Given the description of an element on the screen output the (x, y) to click on. 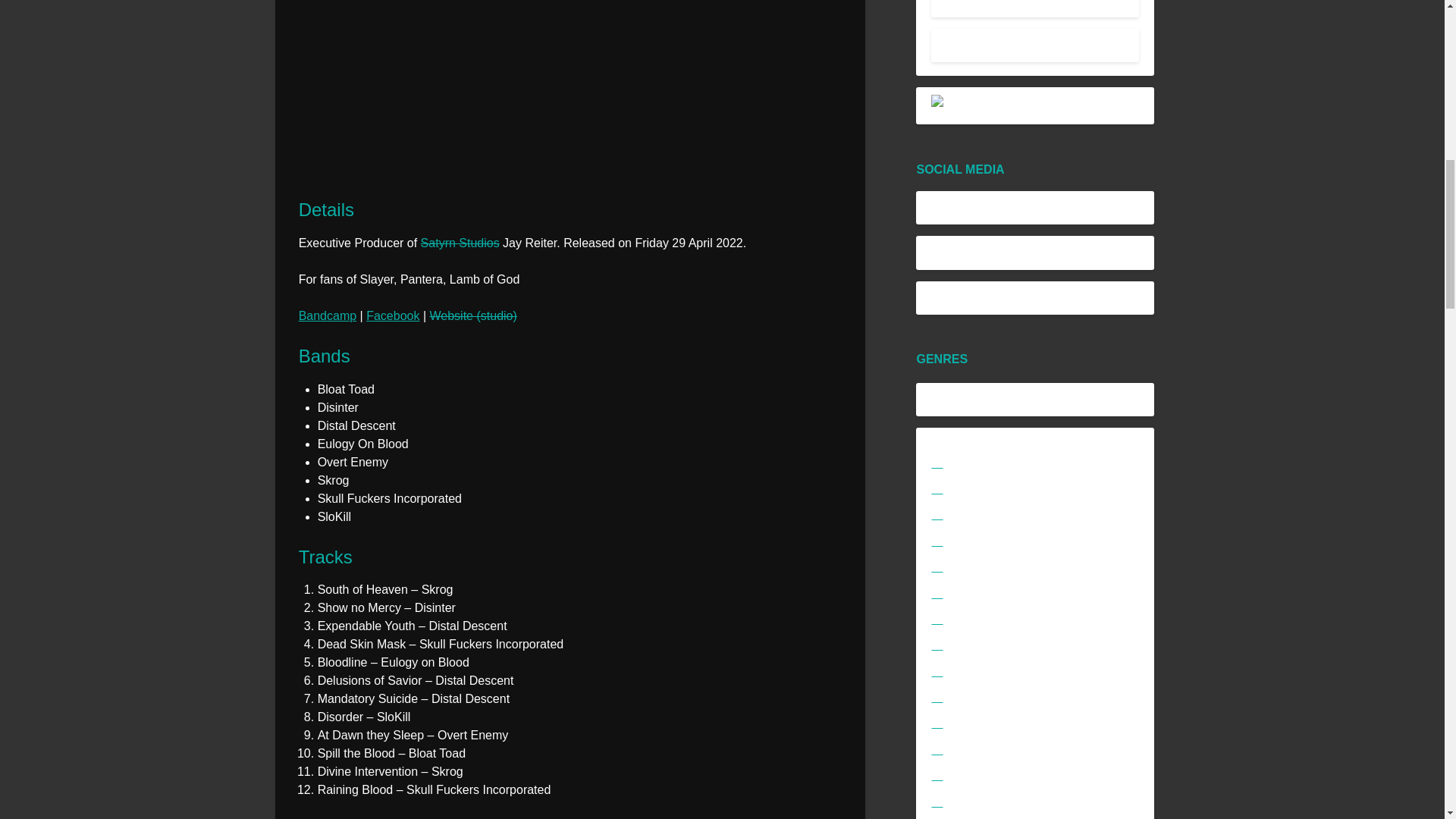
Satyrn Studios (459, 242)
Facebook (392, 315)
Bandcamp (327, 315)
